Given the description of an element on the screen output the (x, y) to click on. 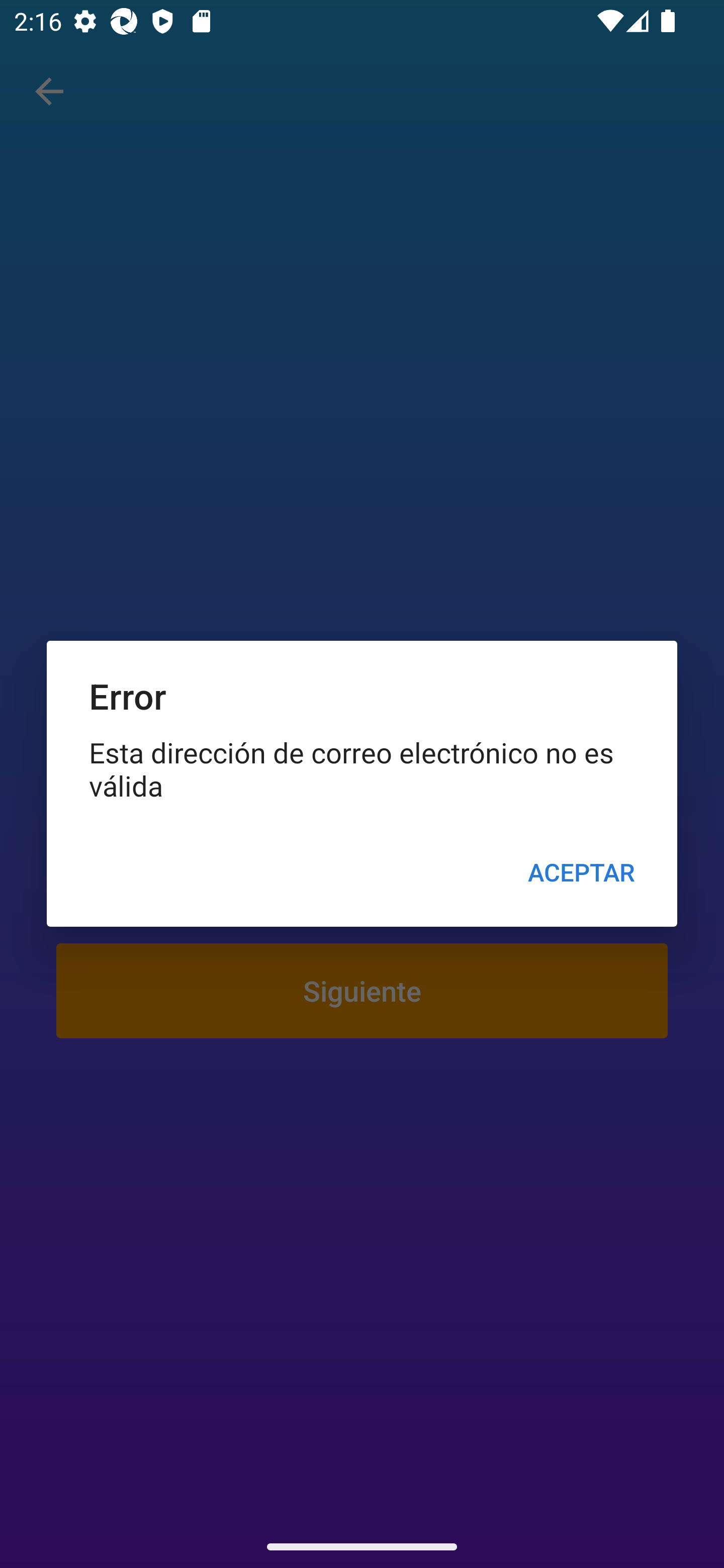
ACEPTAR (580, 872)
